Given the description of an element on the screen output the (x, y) to click on. 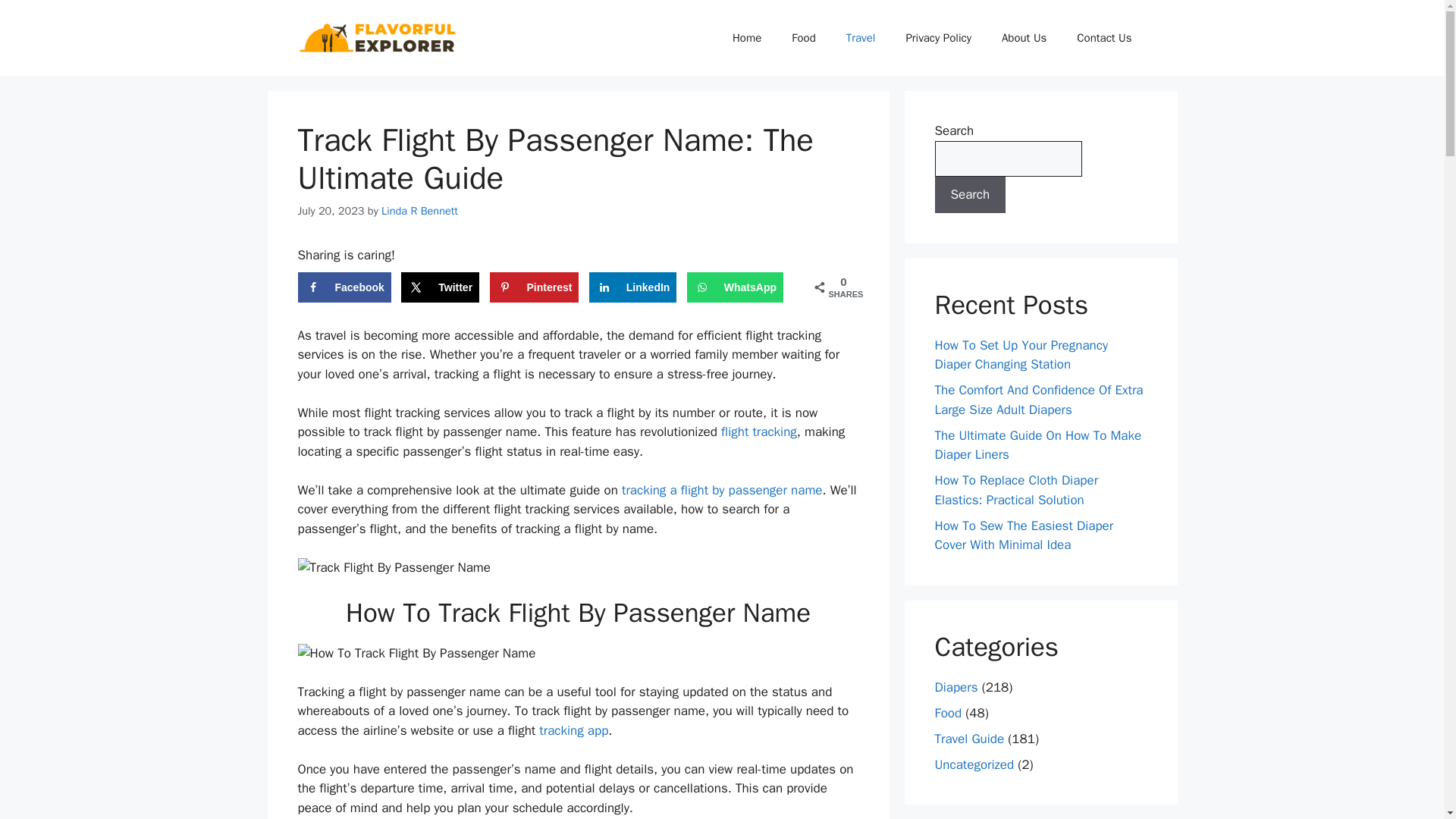
LinkedIn (633, 286)
Share on WhatsApp (735, 286)
tracking a flight by passenger name (721, 489)
Facebook (343, 286)
Save to Pinterest (534, 286)
The Ultimate Guide On How To Make Diaper Liners (1037, 445)
Share on X (440, 286)
WhatsApp (735, 286)
View all posts by Linda R Bennett (419, 210)
Contact Us (1104, 37)
How To Sew The Easiest Diaper Cover With Minimal Idea (1023, 534)
Diapers (955, 687)
About Us (1024, 37)
How To Replace Cloth Diaper Elastics: Practical Solution (1015, 489)
Home (746, 37)
